Given the description of an element on the screen output the (x, y) to click on. 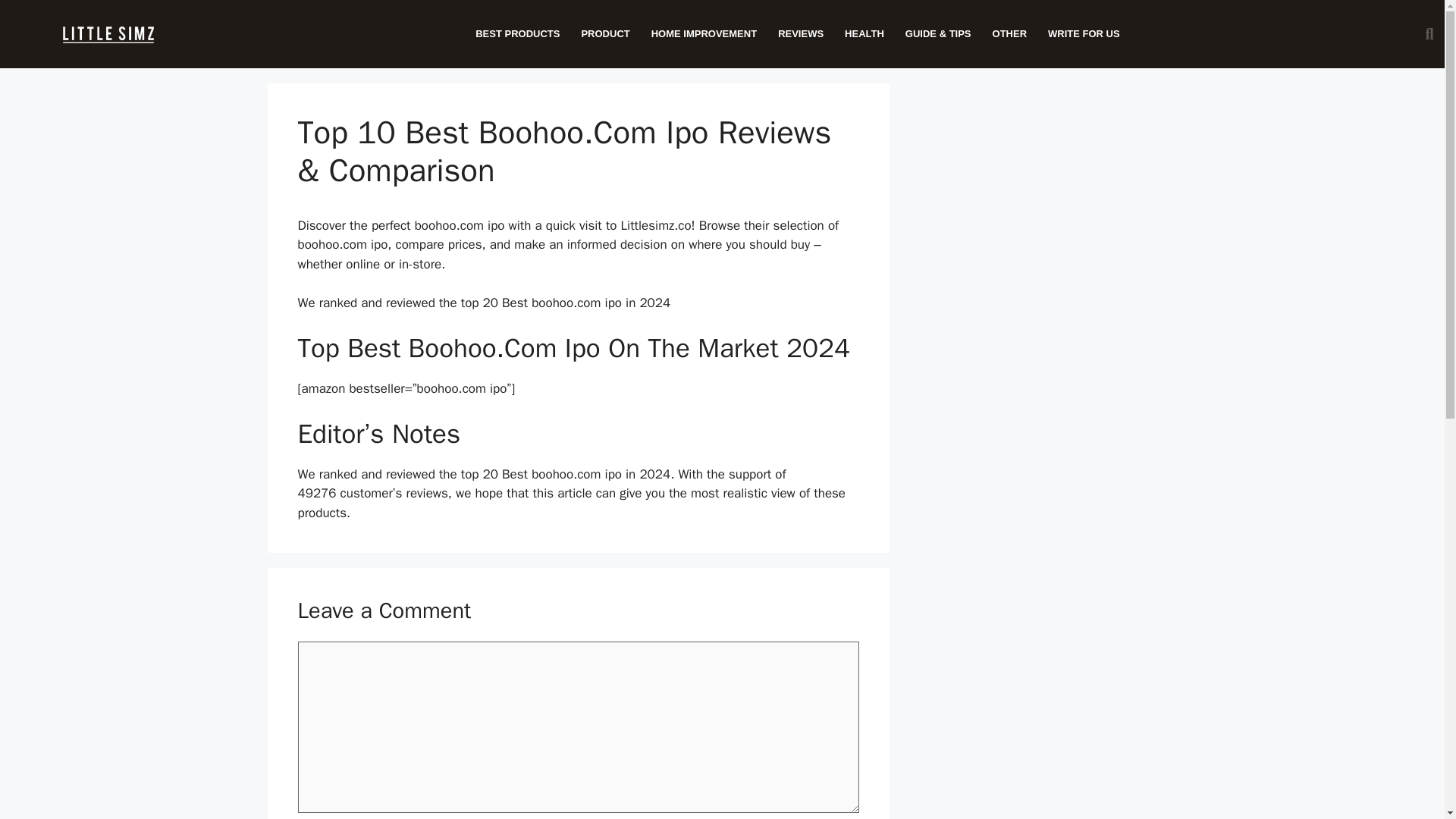
HOME IMPROVEMENT (703, 33)
WRITE FOR US (1083, 33)
PRODUCT (605, 33)
BEST PRODUCTS (517, 33)
REVIEWS (800, 33)
